Given the description of an element on the screen output the (x, y) to click on. 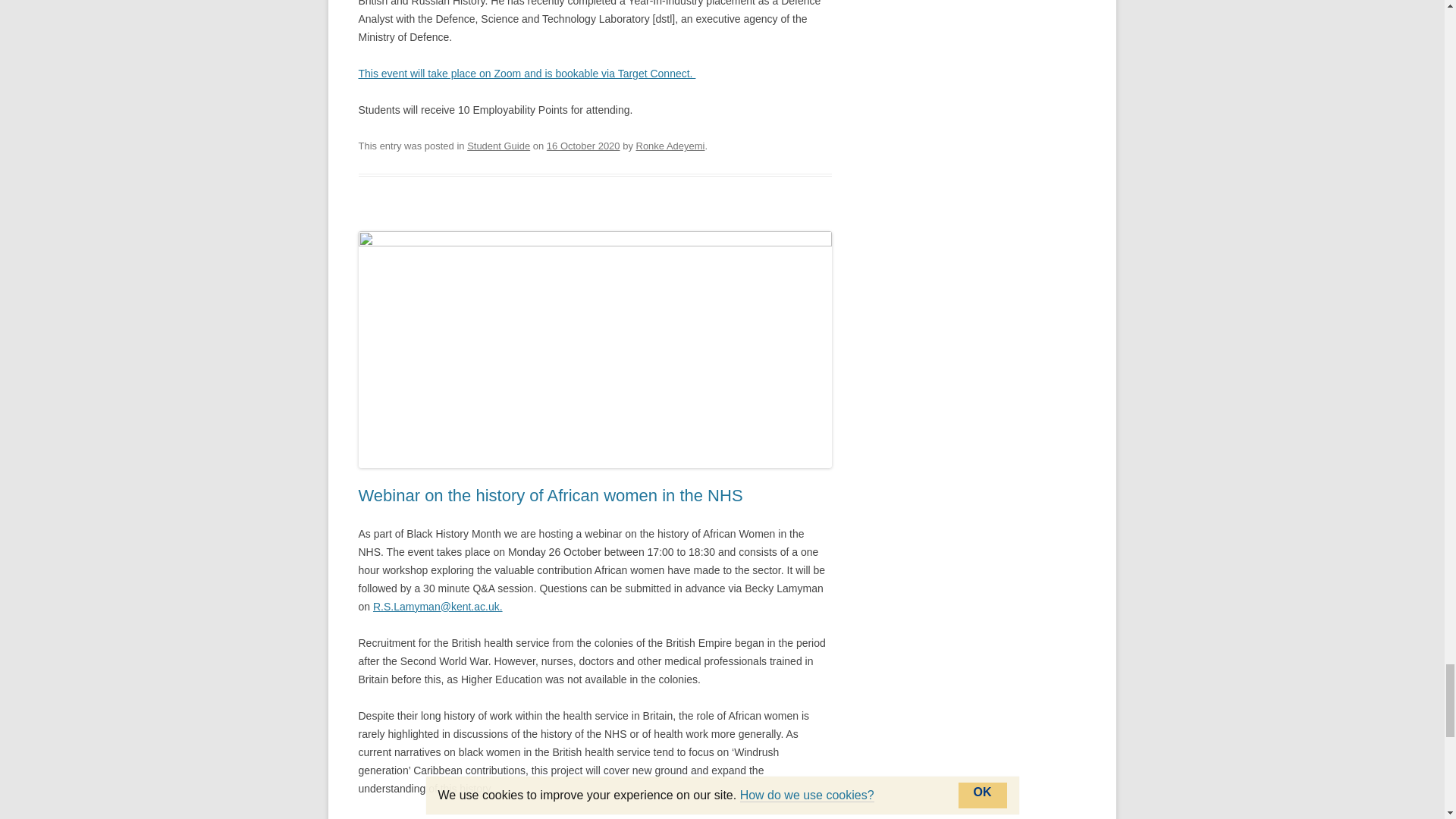
9:29 am (583, 145)
